Given the description of an element on the screen output the (x, y) to click on. 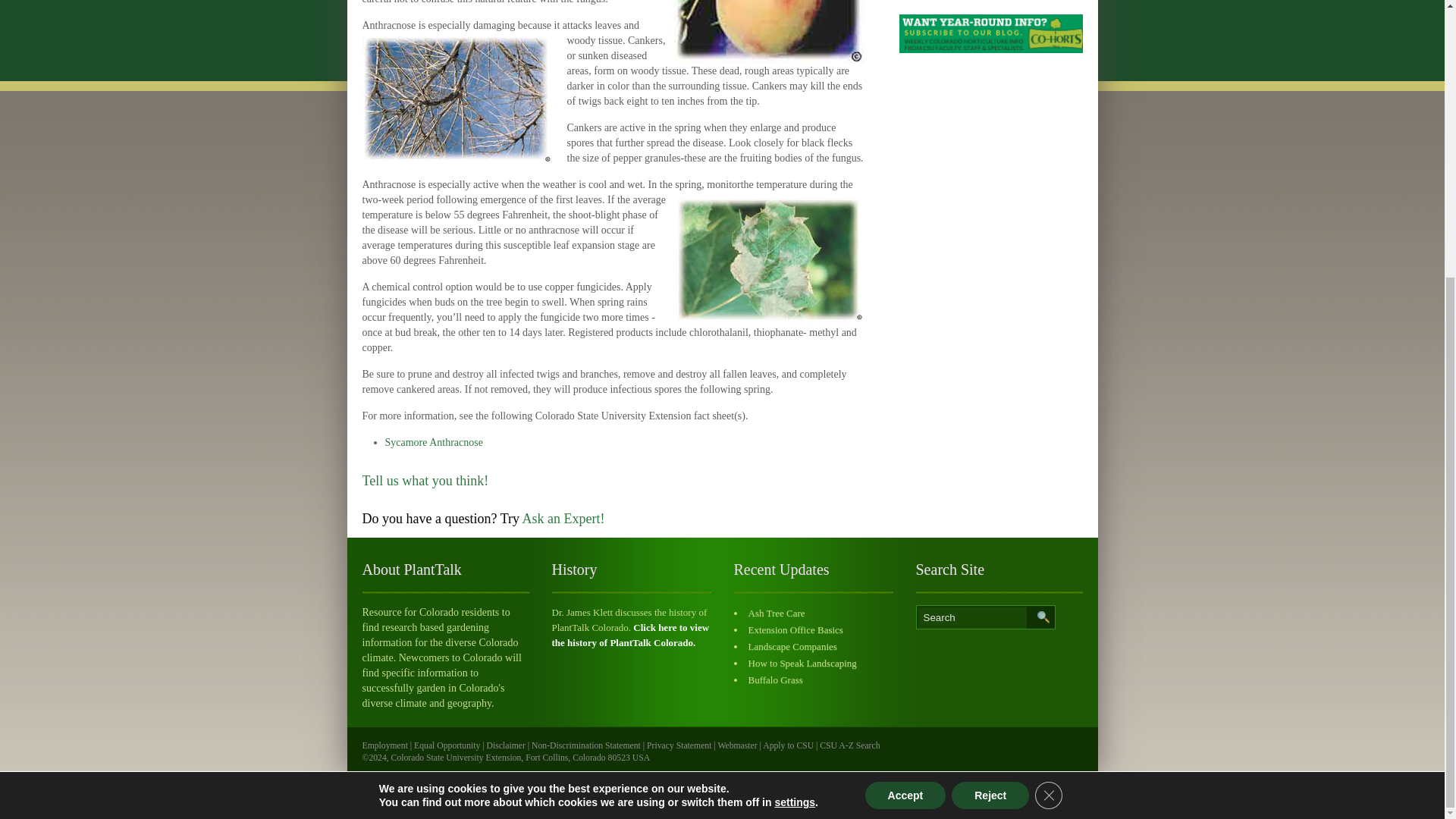
Offsite link (678, 746)
Search (985, 617)
Offsite link (849, 746)
Offsite link (505, 746)
Offsite link (787, 746)
Offsite link (446, 746)
